Given the description of an element on the screen output the (x, y) to click on. 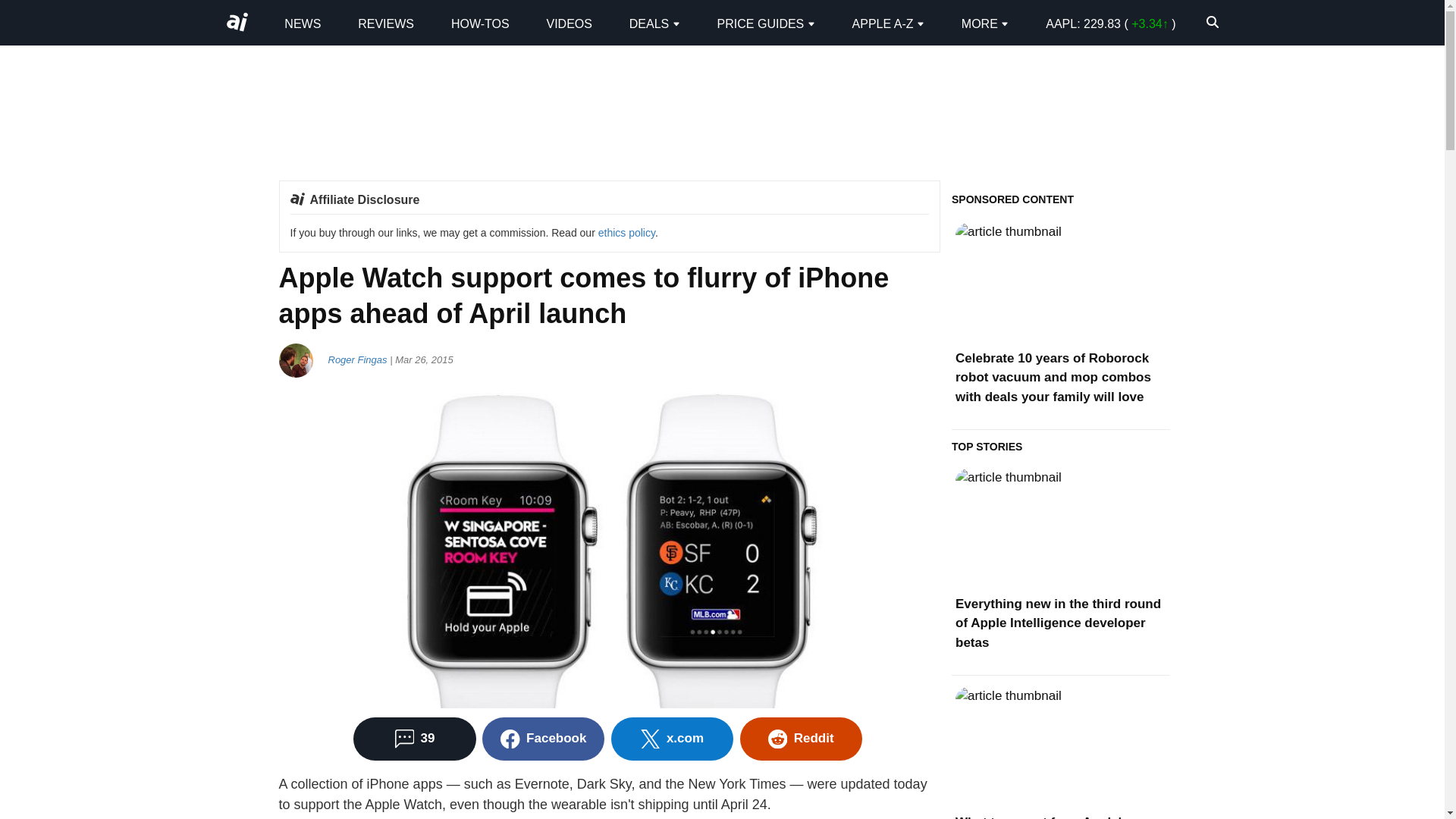
How-Tos (480, 23)
HOW-TOS (480, 23)
Videos (568, 23)
VIDEOS (568, 23)
News (301, 23)
NEWS (301, 23)
REVIEWS (385, 23)
Reviews (385, 23)
